Given the description of an element on the screen output the (x, y) to click on. 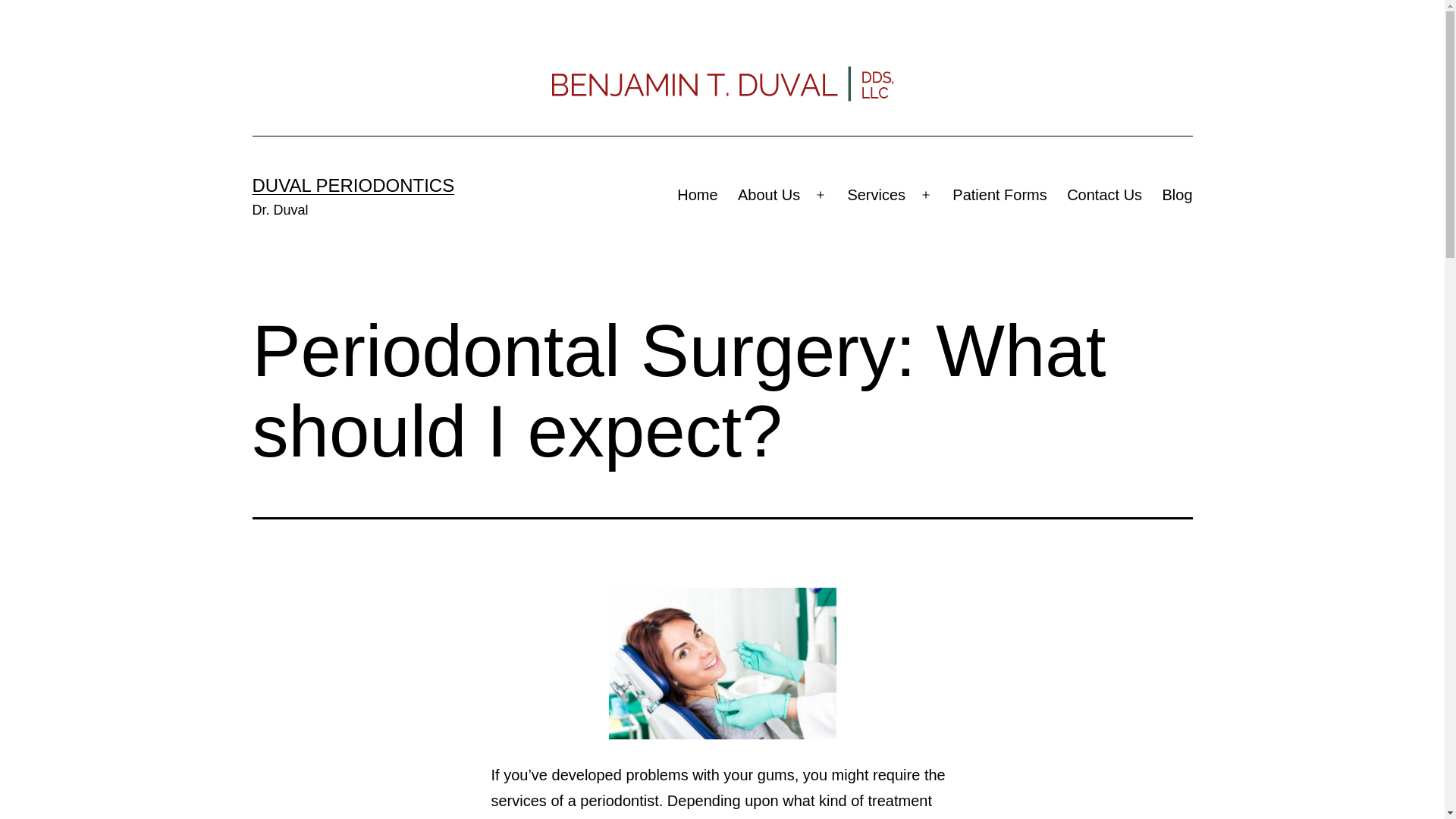
Services (876, 194)
DUVAL PERIODONTICS (352, 185)
About Us (769, 194)
Home (697, 194)
Patient Forms (999, 194)
Blog (1176, 194)
Contact Us (1104, 194)
